Given the description of an element on the screen output the (x, y) to click on. 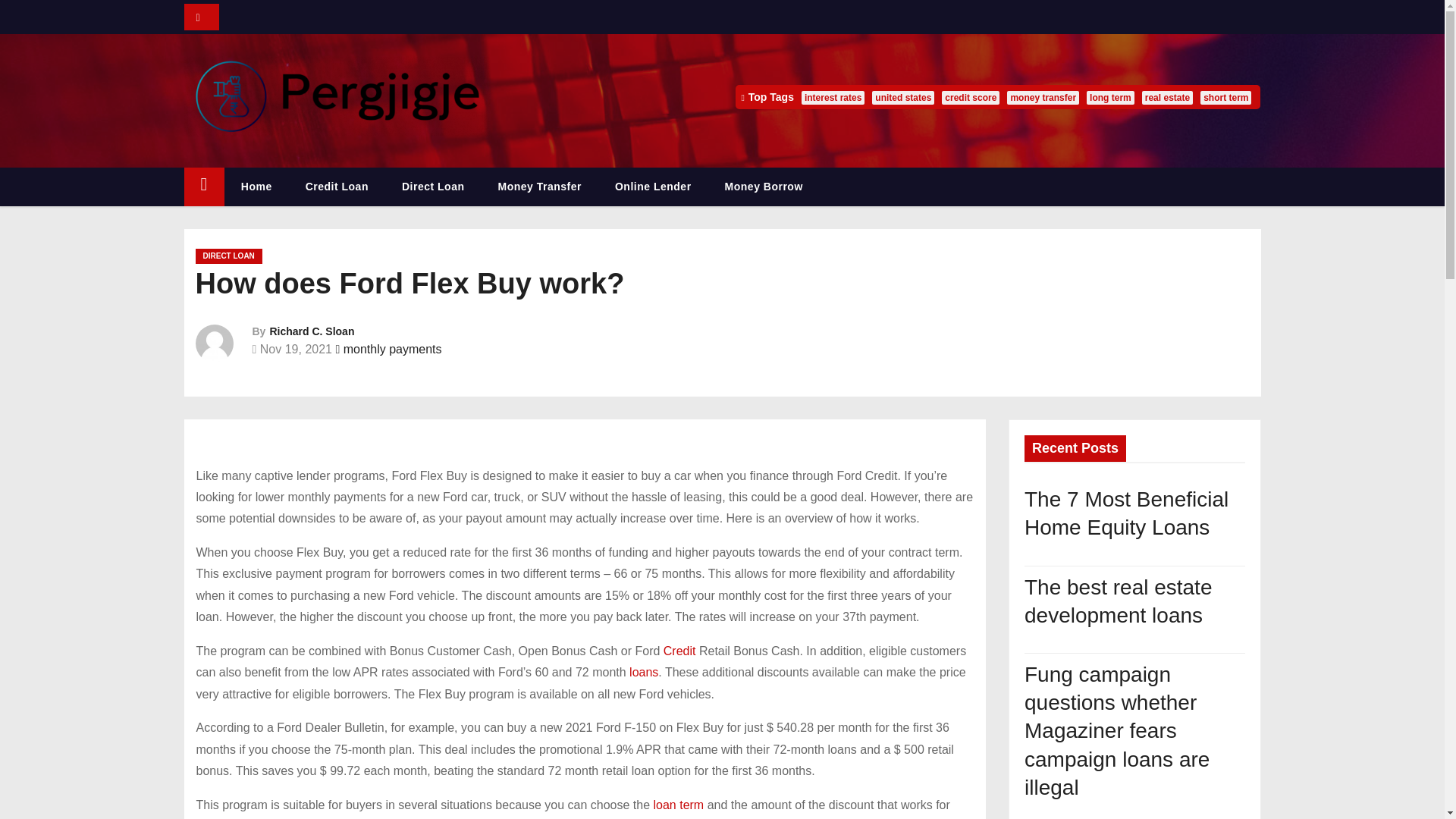
Credit (679, 650)
Direct Loan (433, 186)
Home (256, 186)
long term (1110, 97)
loan term (677, 804)
short term (1224, 97)
Credit Loan (336, 186)
loan term (677, 804)
Online Lender (652, 186)
Money Borrow (763, 186)
